Given the description of an element on the screen output the (x, y) to click on. 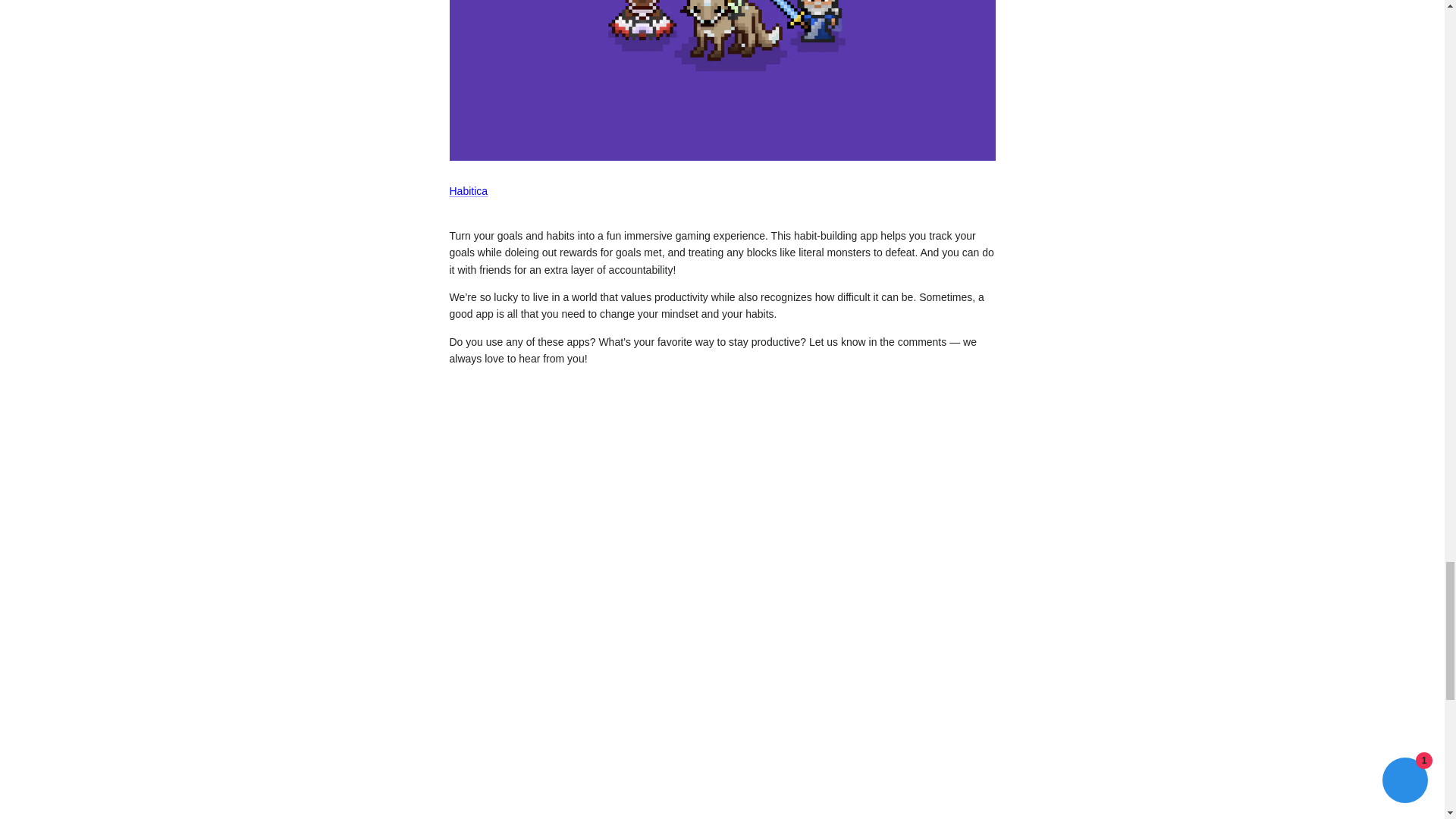
Habitica (467, 191)
Habitica (721, 156)
